Given the description of an element on the screen output the (x, y) to click on. 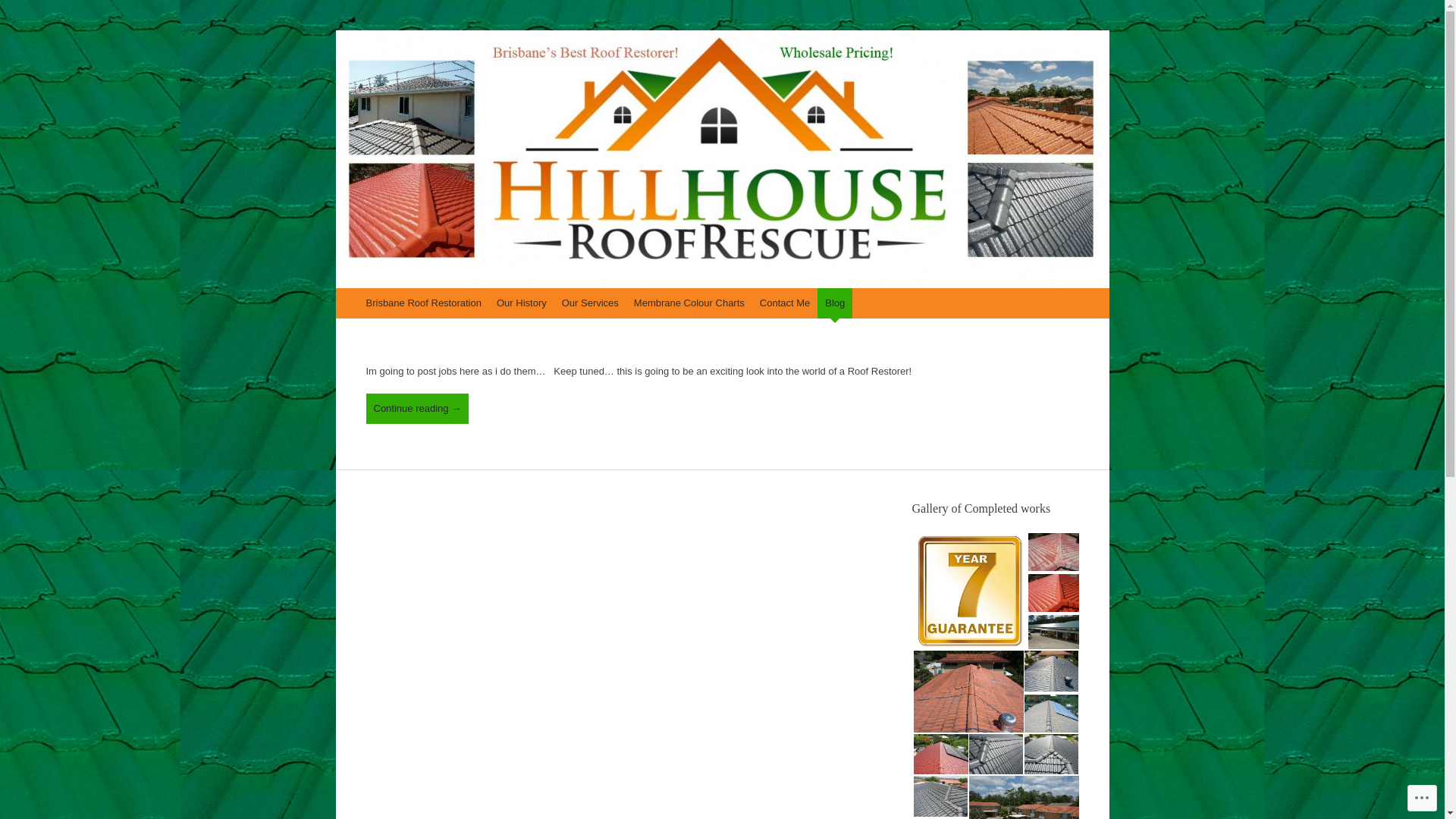
IMG_20121121_133725 Element type: hover (940, 754)
Contact Me Element type: text (784, 303)
Brisbane Roof Restorations Element type: text (507, 81)
Our History Element type: text (521, 303)
IMG_20121115_090355 Element type: hover (967, 691)
IMG_20130111_100831 Element type: hover (939, 795)
IMG_20121017_123941 Element type: hover (1053, 551)
IMG_20121115_133441 Element type: hover (1050, 670)
Brisbane Roof Restoration Element type: text (422, 303)
IMG_20130104_094815 Element type: hover (1050, 754)
IMG_20130104_094737 Element type: hover (995, 754)
Membrane Colour Charts Element type: text (689, 303)
IMG_20121121_085422 Element type: hover (1050, 714)
IMG_20121106_102146 Element type: hover (1053, 633)
IMG_20121025_143648 Element type: hover (1053, 592)
Our Services Element type: text (590, 303)
7_yr_warranty_logo-HR Element type: hover (969, 590)
Blog Element type: text (834, 303)
